Given the description of an element on the screen output the (x, y) to click on. 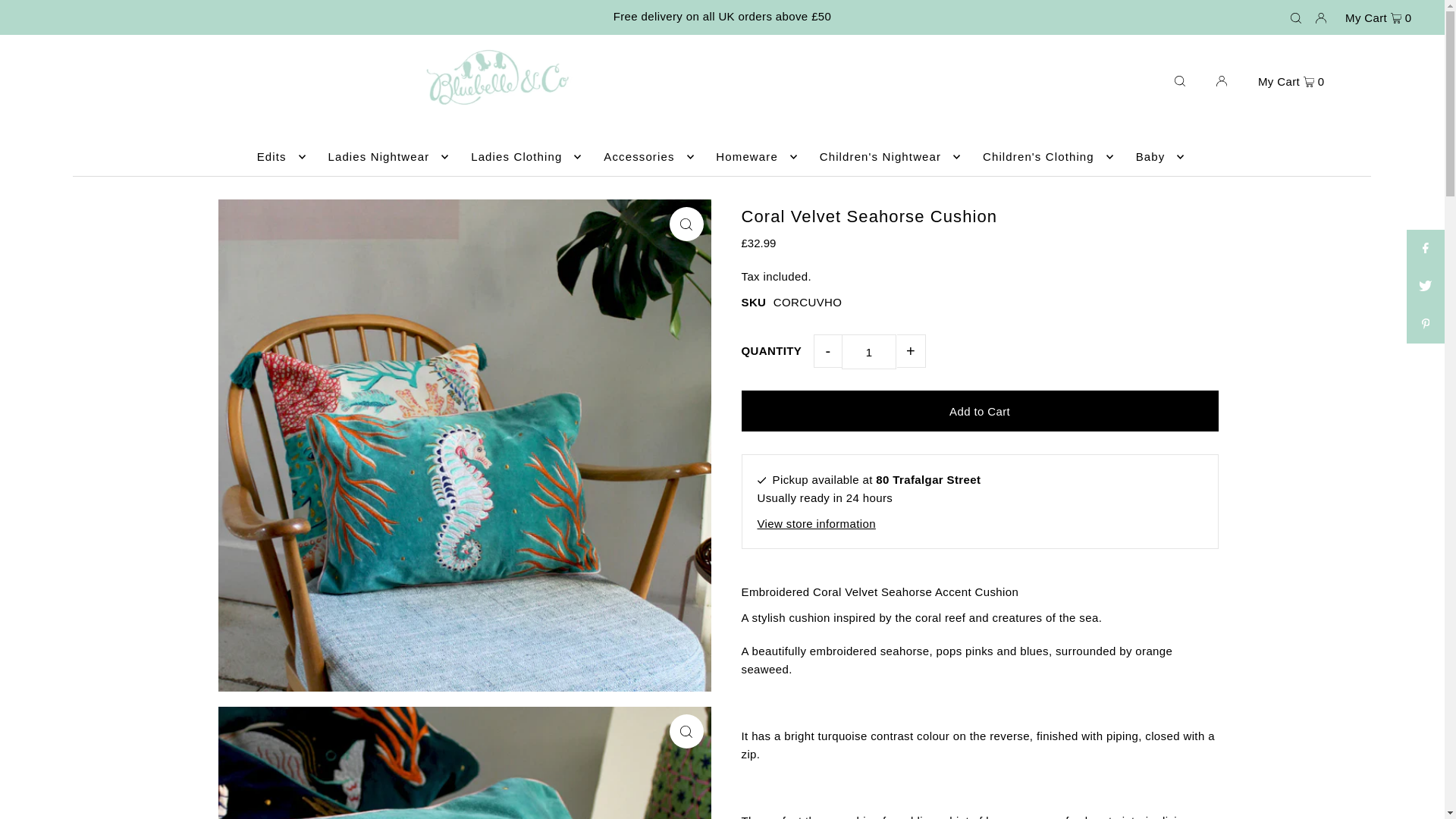
Add to Cart (979, 410)
Edits (276, 157)
1 (868, 351)
